Given the description of an element on the screen output the (x, y) to click on. 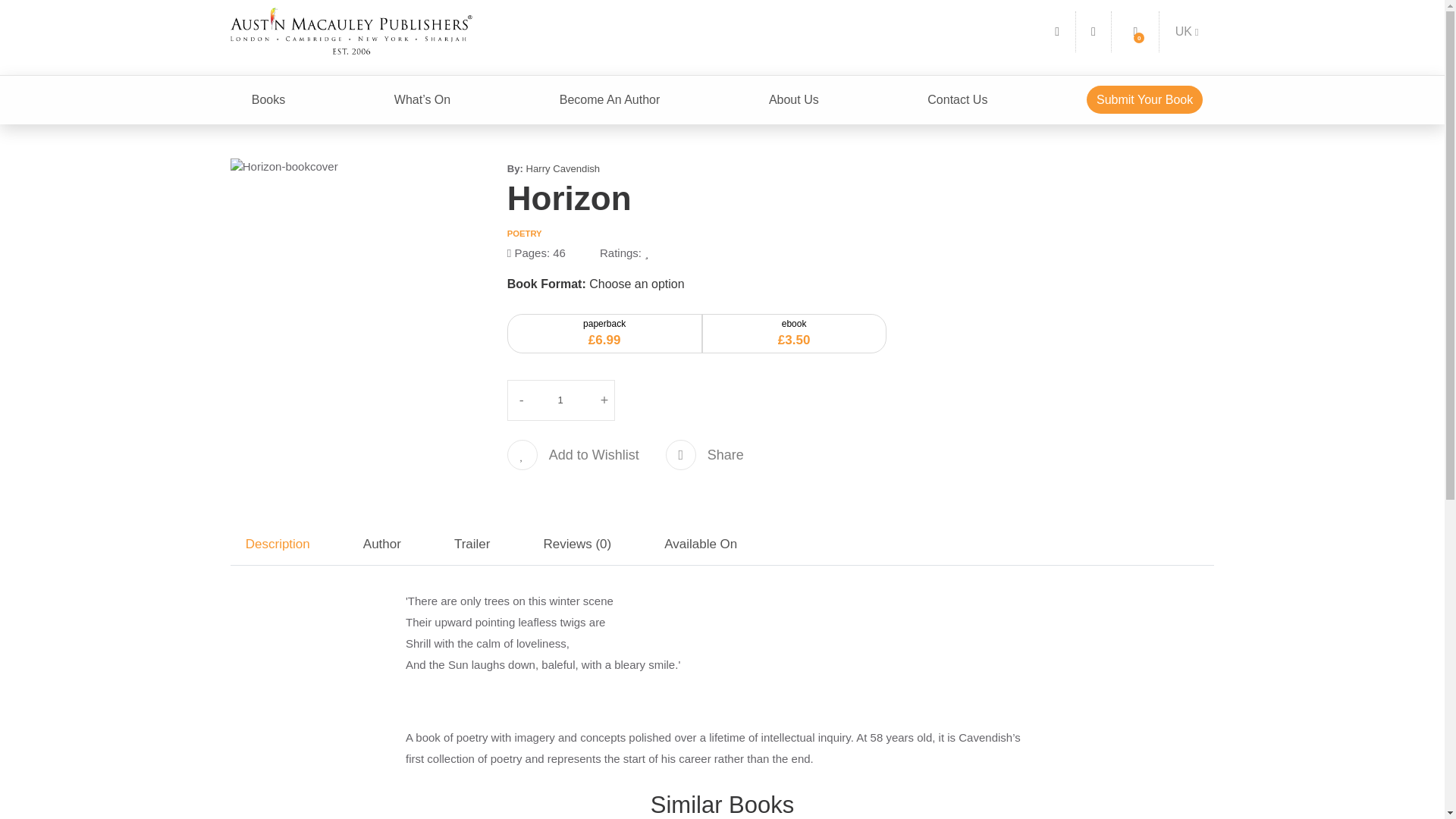
Branch (1187, 31)
1 (560, 400)
Books (268, 99)
UK (1187, 31)
